Given the description of an element on the screen output the (x, y) to click on. 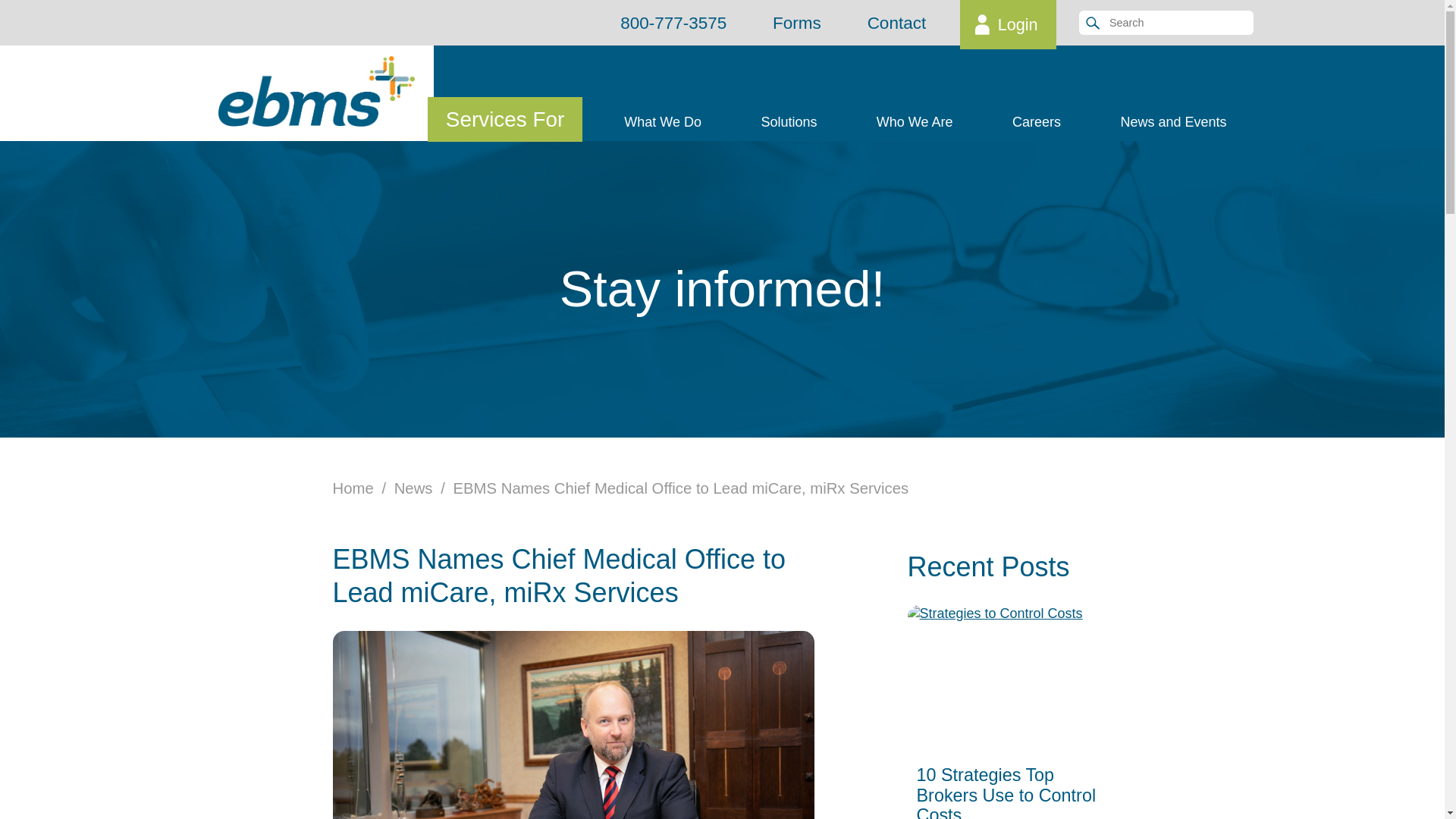
Forms (797, 22)
Login (1008, 24)
Services For (505, 119)
Call us (673, 22)
EBMS (316, 91)
Contact (896, 22)
800-777-3575 (673, 22)
Forms (797, 22)
